Given the description of an element on the screen output the (x, y) to click on. 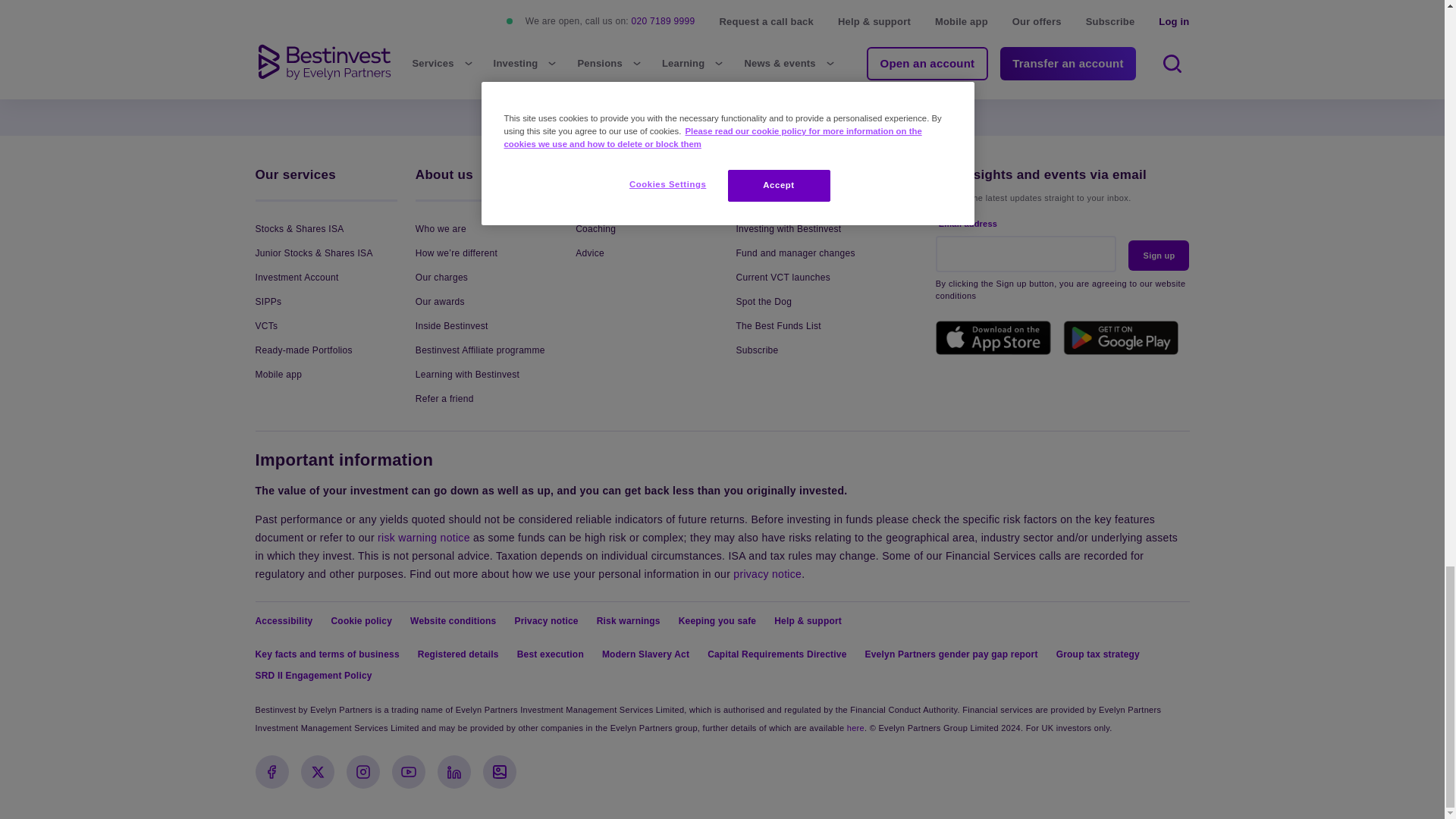
Privacy notice (767, 573)
Registered details (855, 727)
